Given the description of an element on the screen output the (x, y) to click on. 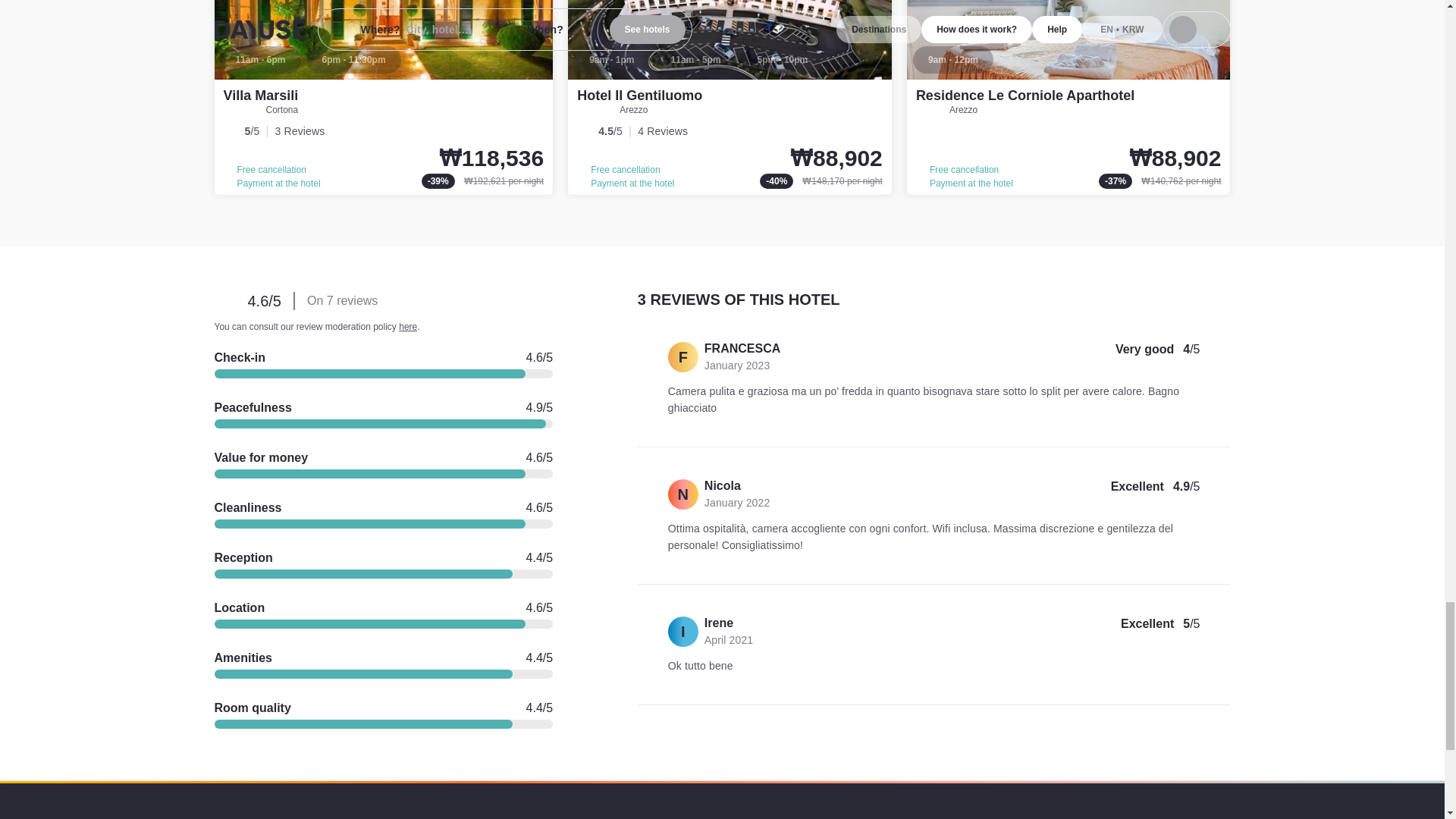
Villa Marsili (260, 95)
Villa Marsili (383, 97)
Hotel Il Gentiluomo (729, 97)
Hotel Il Gentiluomo (638, 95)
Residence Le Corniole Aparthotel (1024, 95)
Residence Le Corniole Aparthotel (1068, 97)
